Given the description of an element on the screen output the (x, y) to click on. 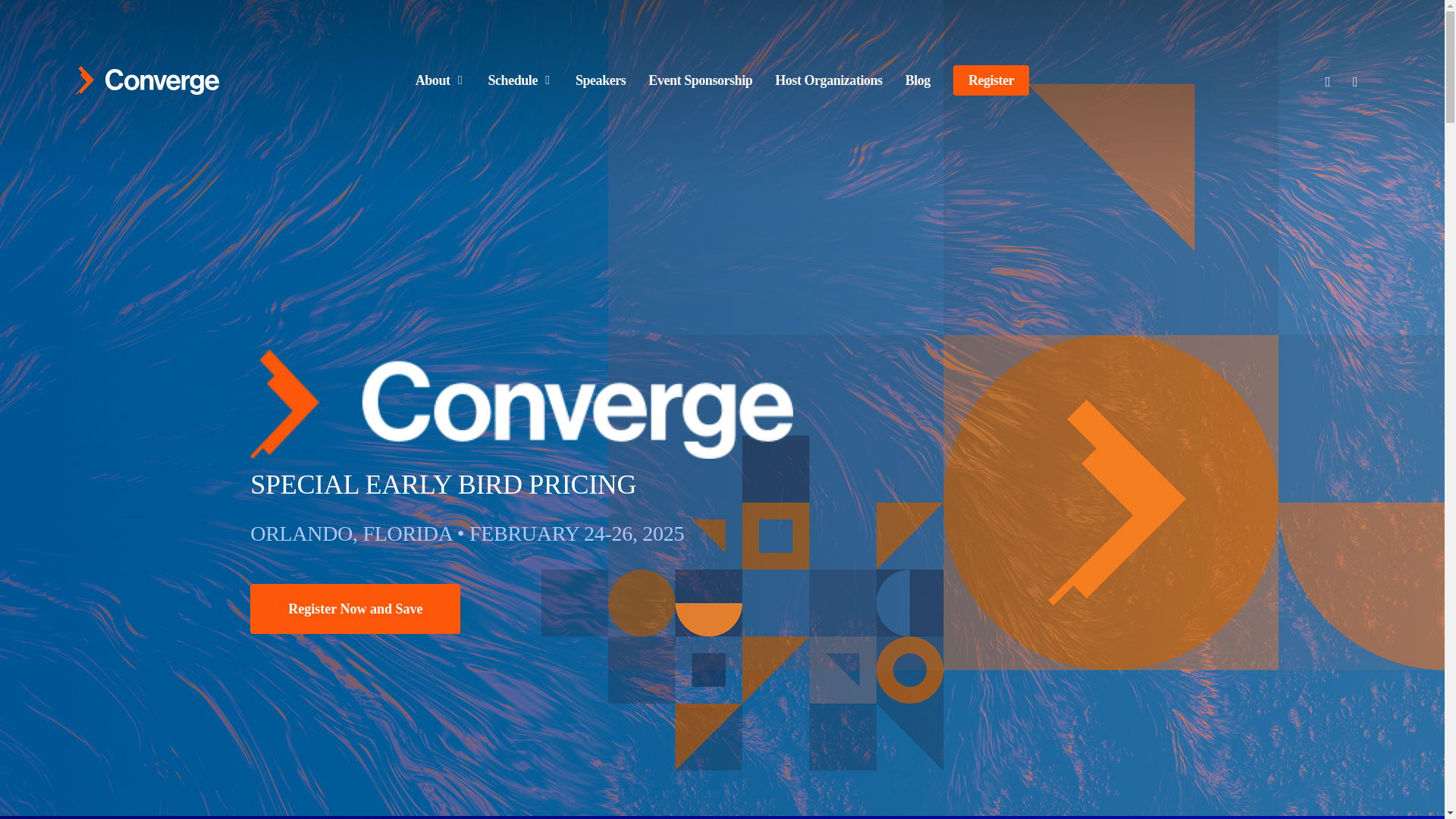
Host Organizations (828, 80)
facebook (1354, 80)
twitter (1327, 80)
Speakers (600, 80)
Schedule (520, 80)
Event Sponsorship (699, 80)
About (439, 80)
Register Now and Save (355, 608)
Register (991, 80)
Blog (917, 80)
